Given the description of an element on the screen output the (x, y) to click on. 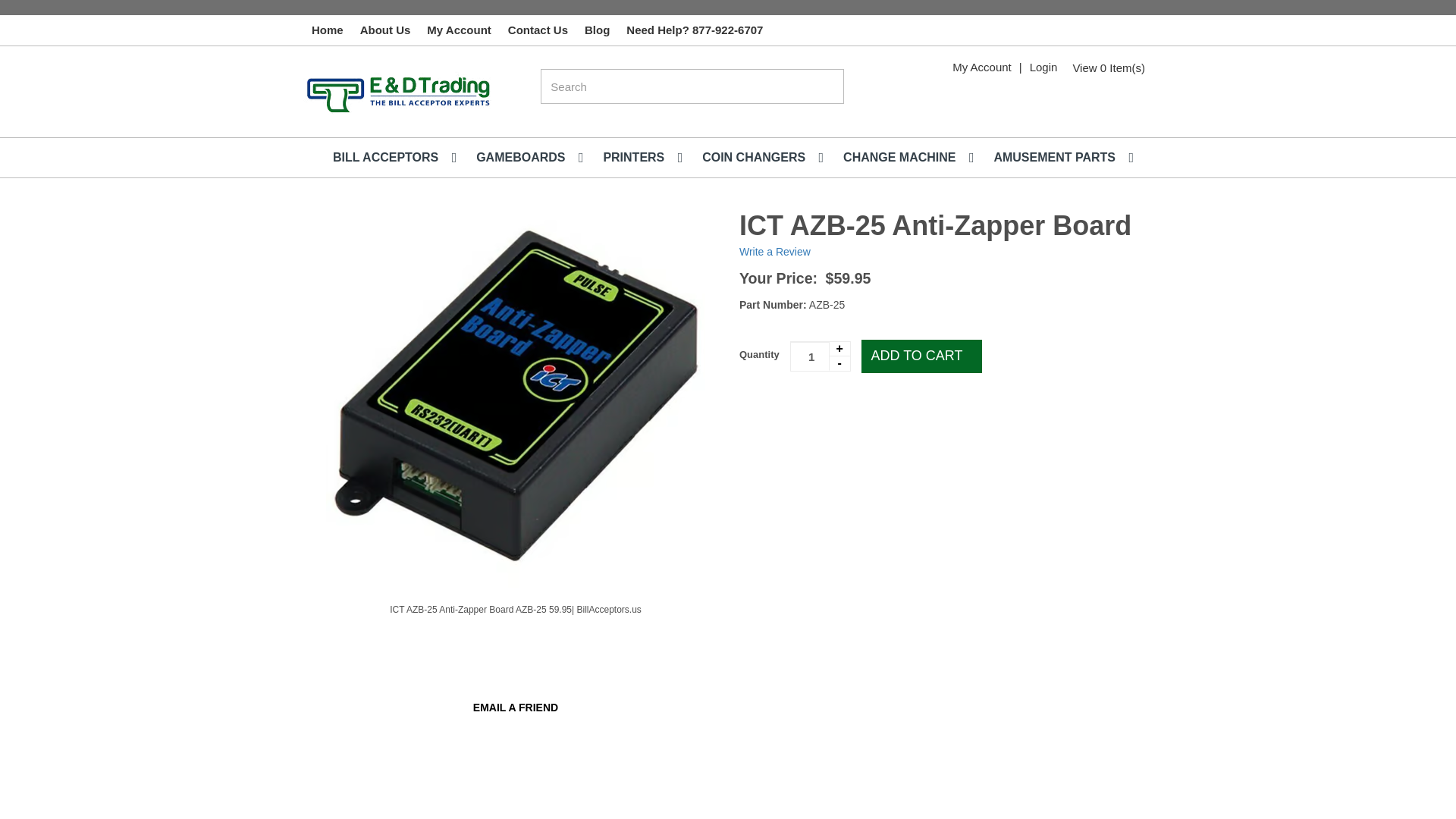
GAMEBOARDS (524, 157)
My Account (459, 30)
About Us (385, 30)
1 (820, 356)
Contact Us (537, 30)
BILL ACCEPTORS (389, 157)
Need Help? 877-922-6707 (694, 30)
My Account (981, 67)
PRINTERS (637, 157)
Login (1043, 67)
